Given the description of an element on the screen output the (x, y) to click on. 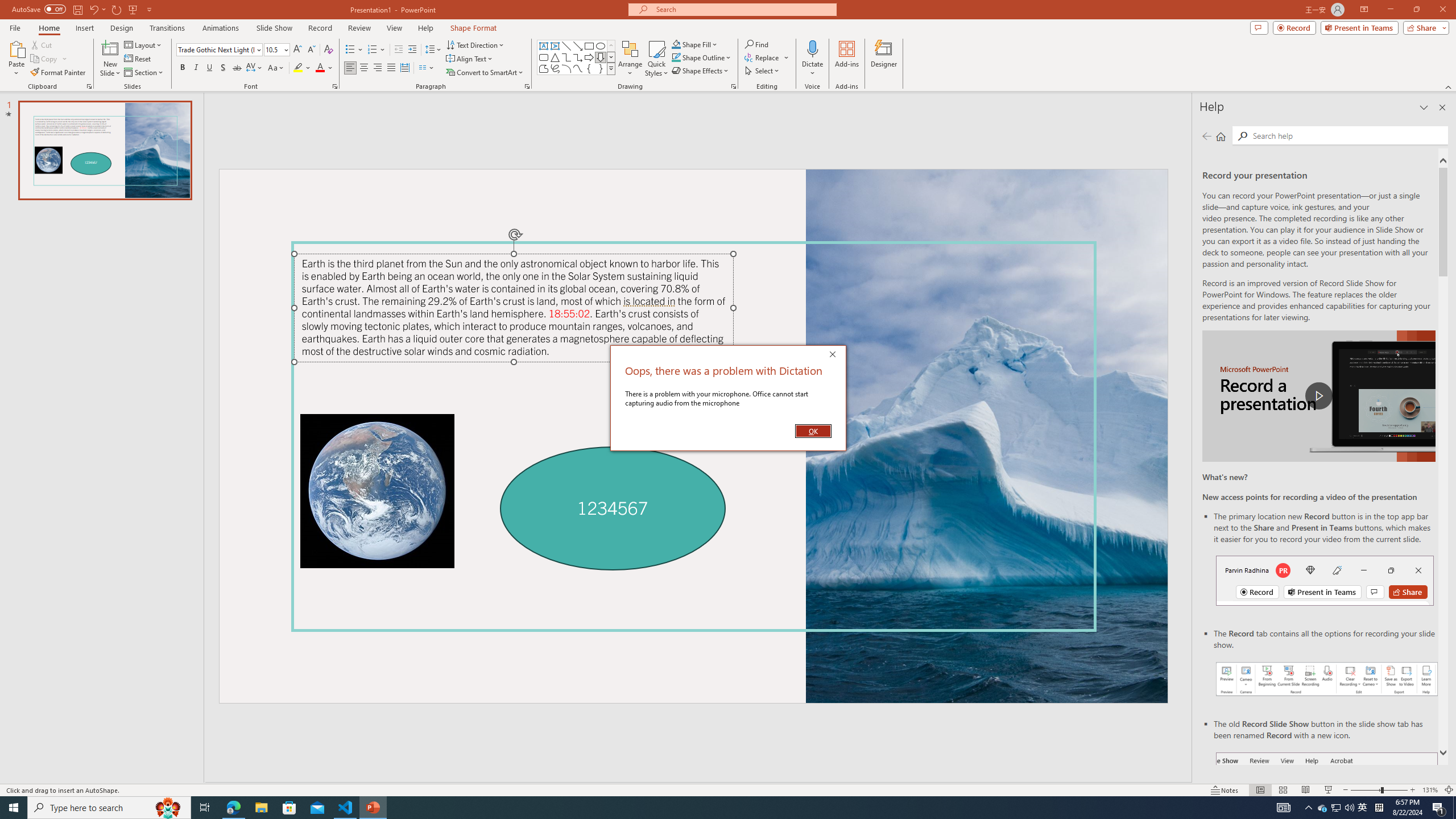
Previous page (1206, 136)
Shape Fill Aqua, Accent 2 (675, 44)
